Given the description of an element on the screen output the (x, y) to click on. 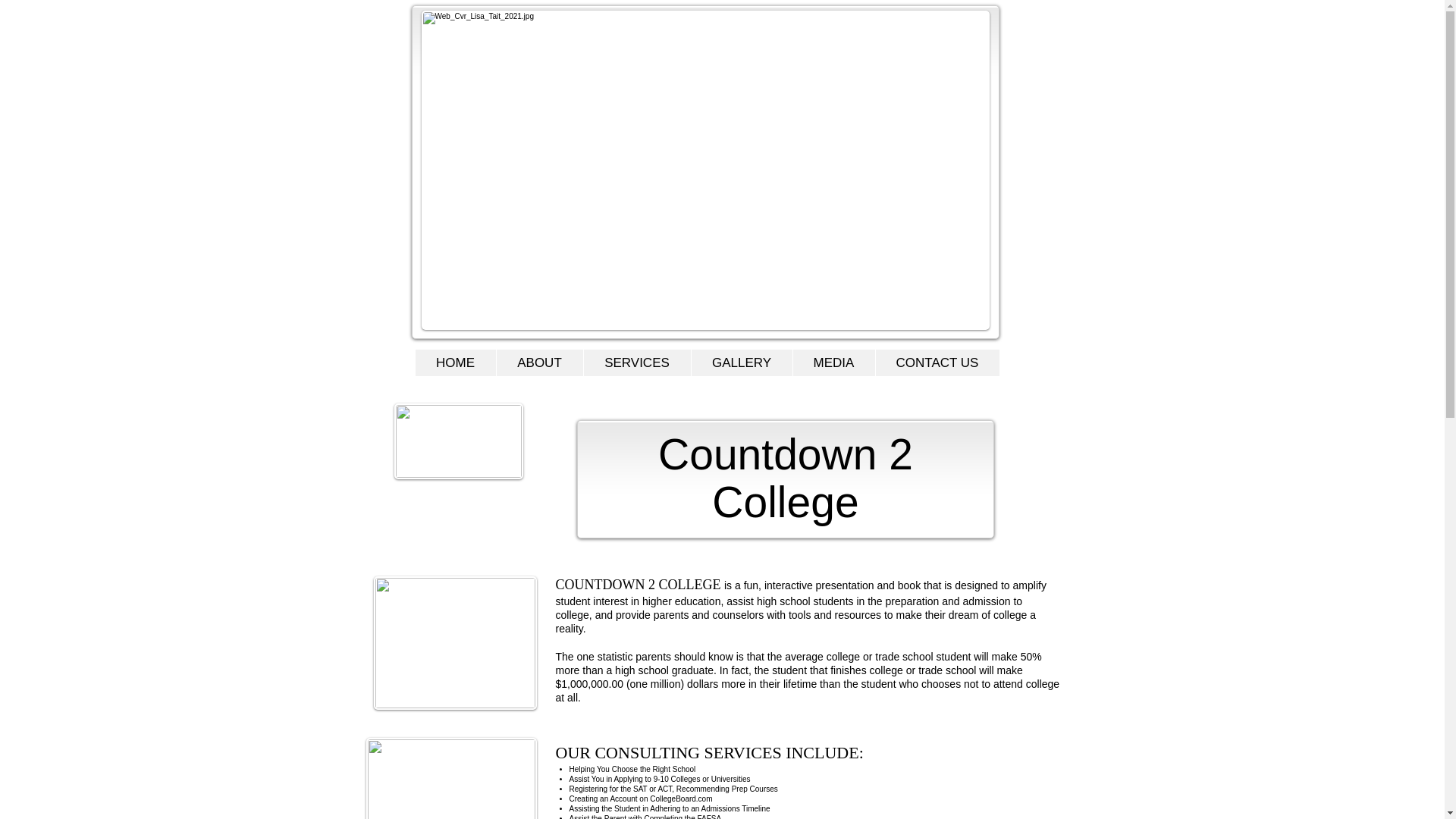
ABOUT (539, 362)
SERVICES (636, 362)
MEDIA (833, 362)
GALLERY (741, 362)
CONTACT US (936, 362)
HOME (455, 362)
